Given the description of an element on the screen output the (x, y) to click on. 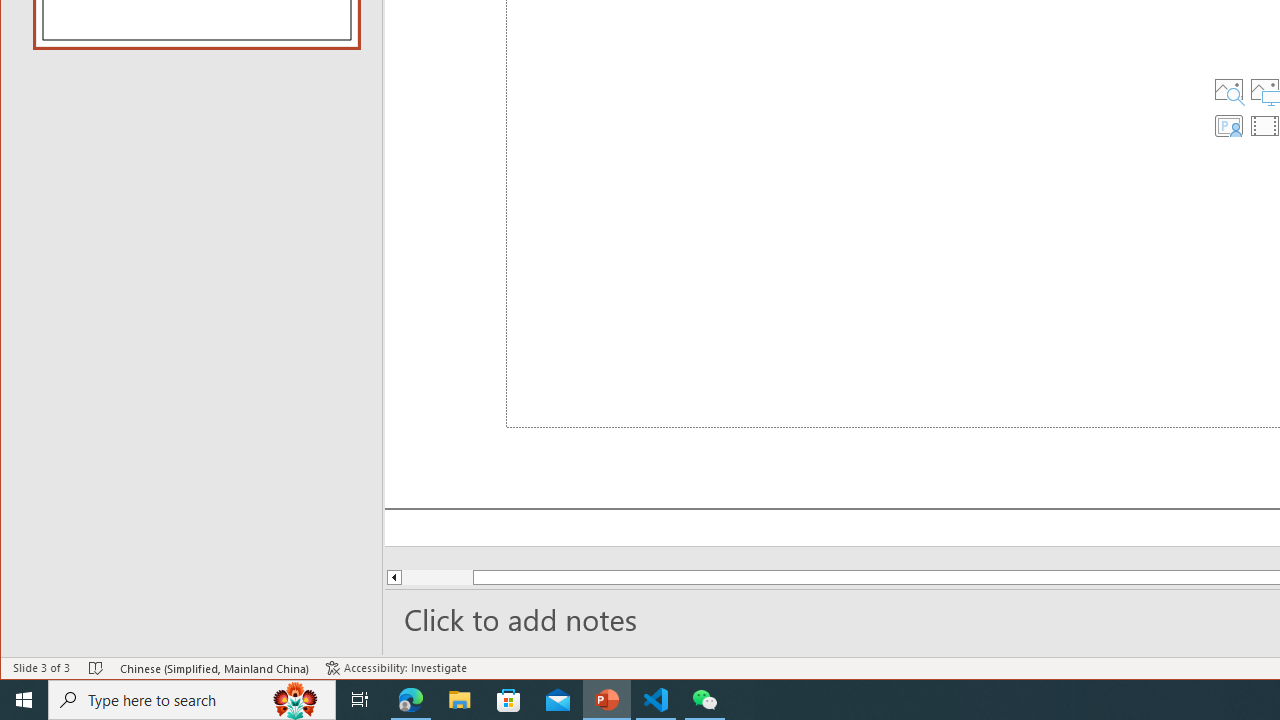
Insert Cameo (1229, 125)
Stock Images (1229, 89)
